Given the description of an element on the screen output the (x, y) to click on. 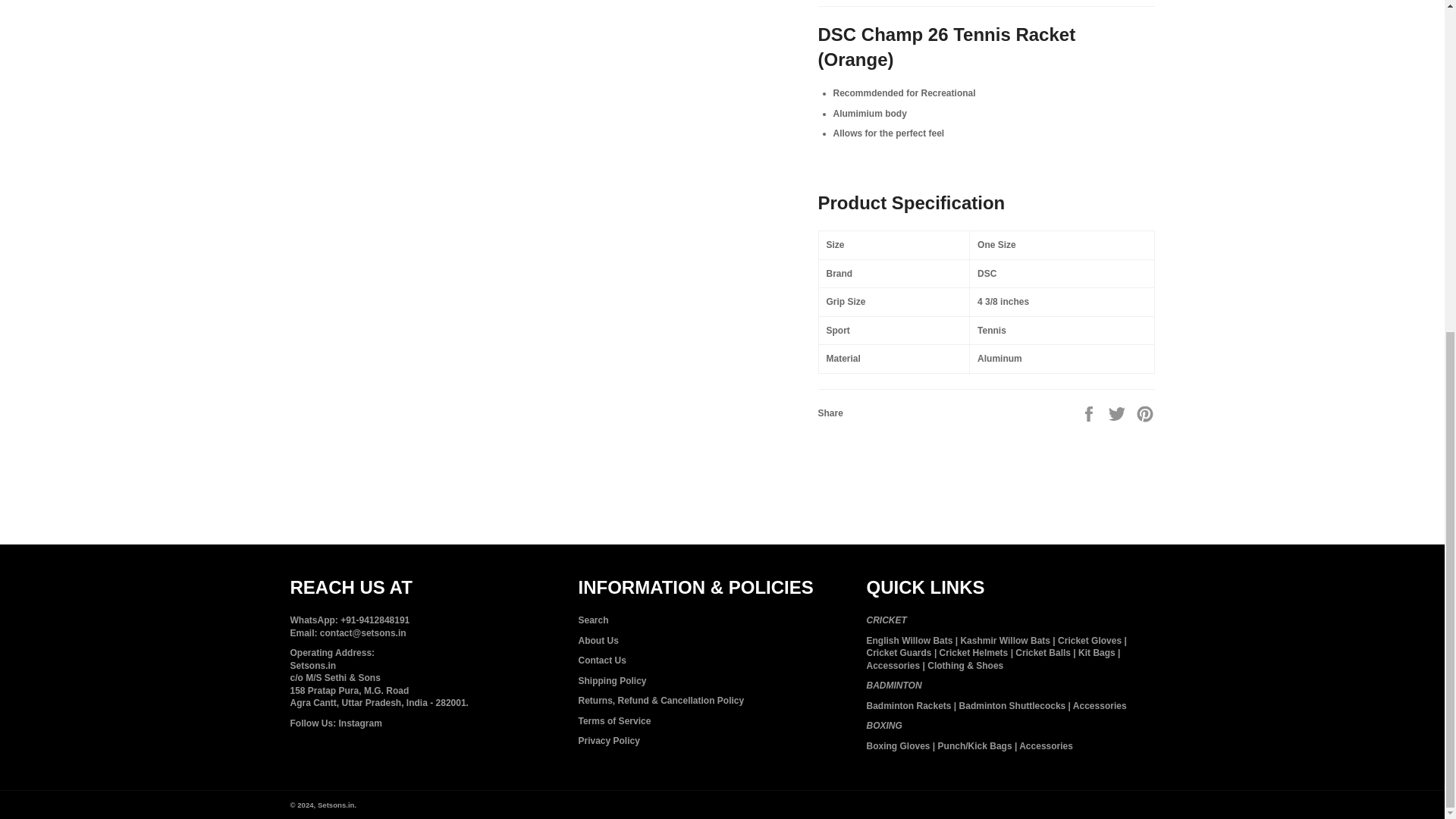
Pin on Pinterest (1144, 412)
Cricket Balls (1042, 652)
Cricket Guards (898, 652)
Share on Facebook (1090, 412)
Cricket Bats - English Willow (909, 640)
Cricket Kit Bags (1096, 652)
BOXING (883, 725)
Badminton (893, 685)
Cricket Gloves (1089, 640)
Badminton Shuttlecocks (1012, 706)
Badminton Accessories (1099, 706)
Cricket Bats - Kashmir Willow (1004, 640)
Tweet on Twitter (1118, 412)
Badminton Rackets (908, 706)
CRICKET (885, 620)
